Given the description of an element on the screen output the (x, y) to click on. 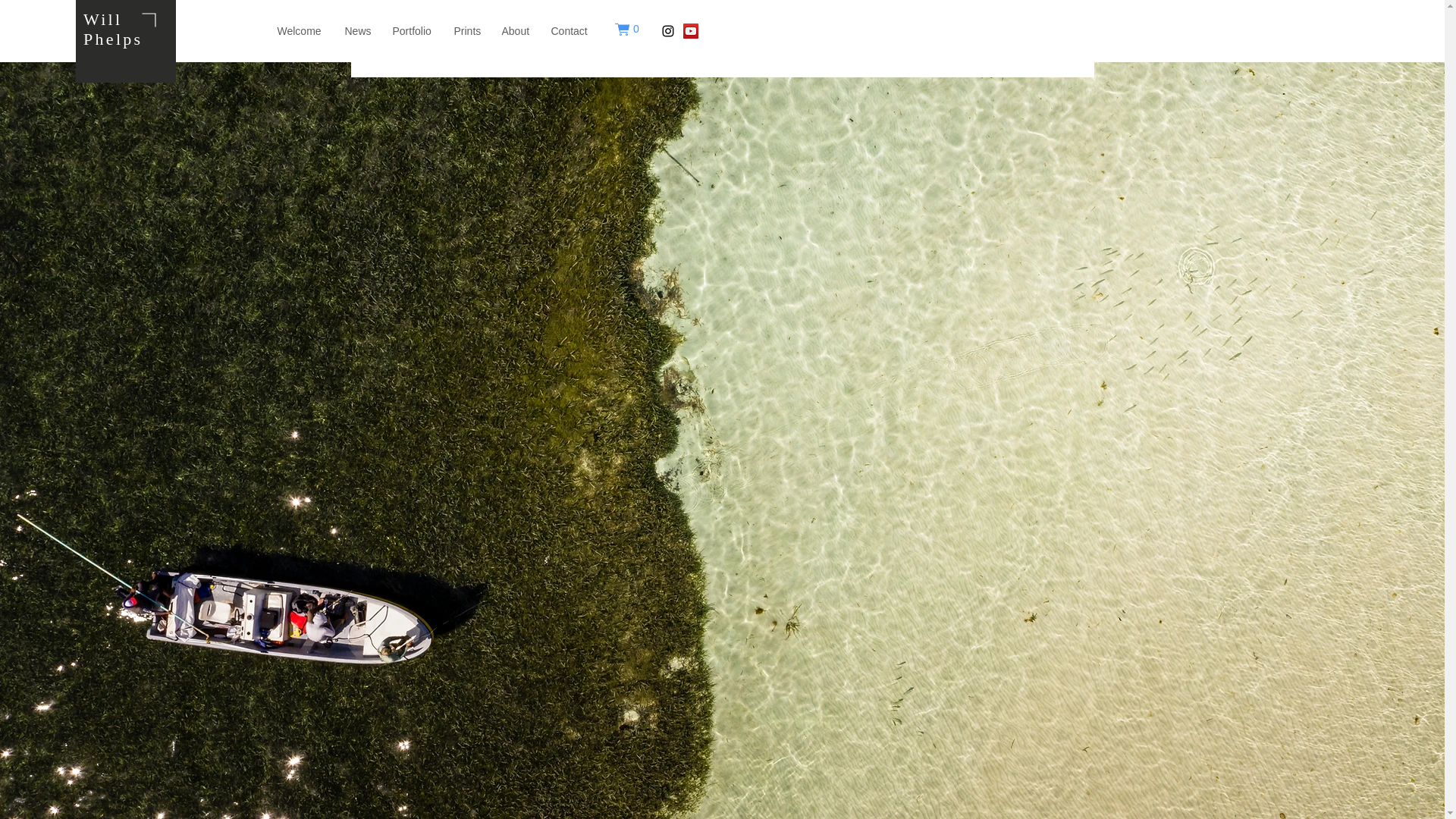
Contact (570, 30)
Portfolio (412, 30)
Welcome (300, 30)
Will (102, 18)
News (358, 30)
Phelps (112, 38)
Prints (468, 30)
About (516, 30)
